Given the description of an element on the screen output the (x, y) to click on. 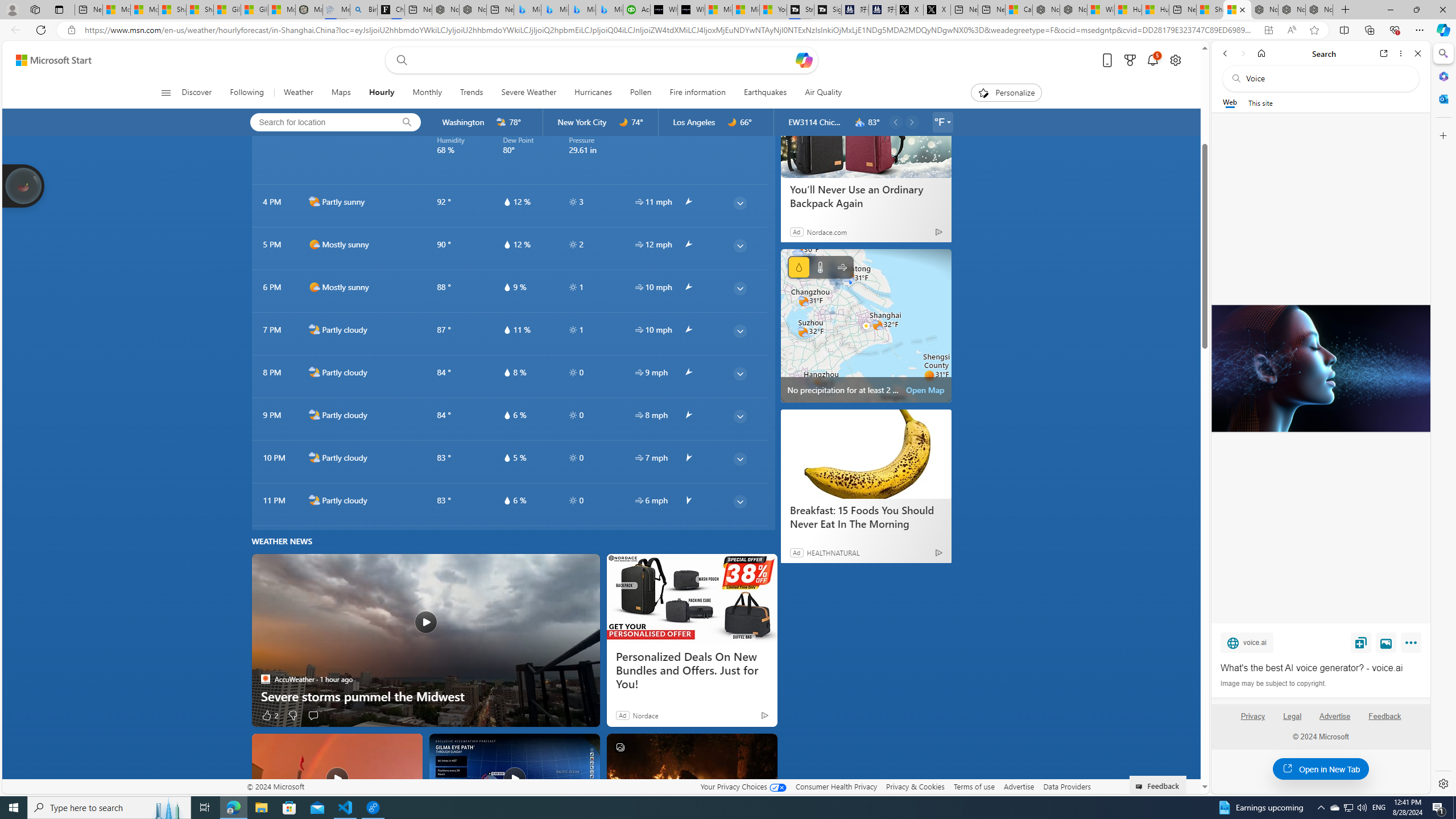
Consumer Health Privacy (835, 785)
App available. Install Microsoft Start Weather (1268, 29)
Personalized Deals On New Bundles and Offers. Just for You! (691, 670)
Class: miniMapRadarSVGView-DS-EntryPoint1-1 (866, 325)
common/arrow (687, 500)
Breakfast: 15 Foods You Should Never Eat In The Morning (866, 453)
